Given the description of an element on the screen output the (x, y) to click on. 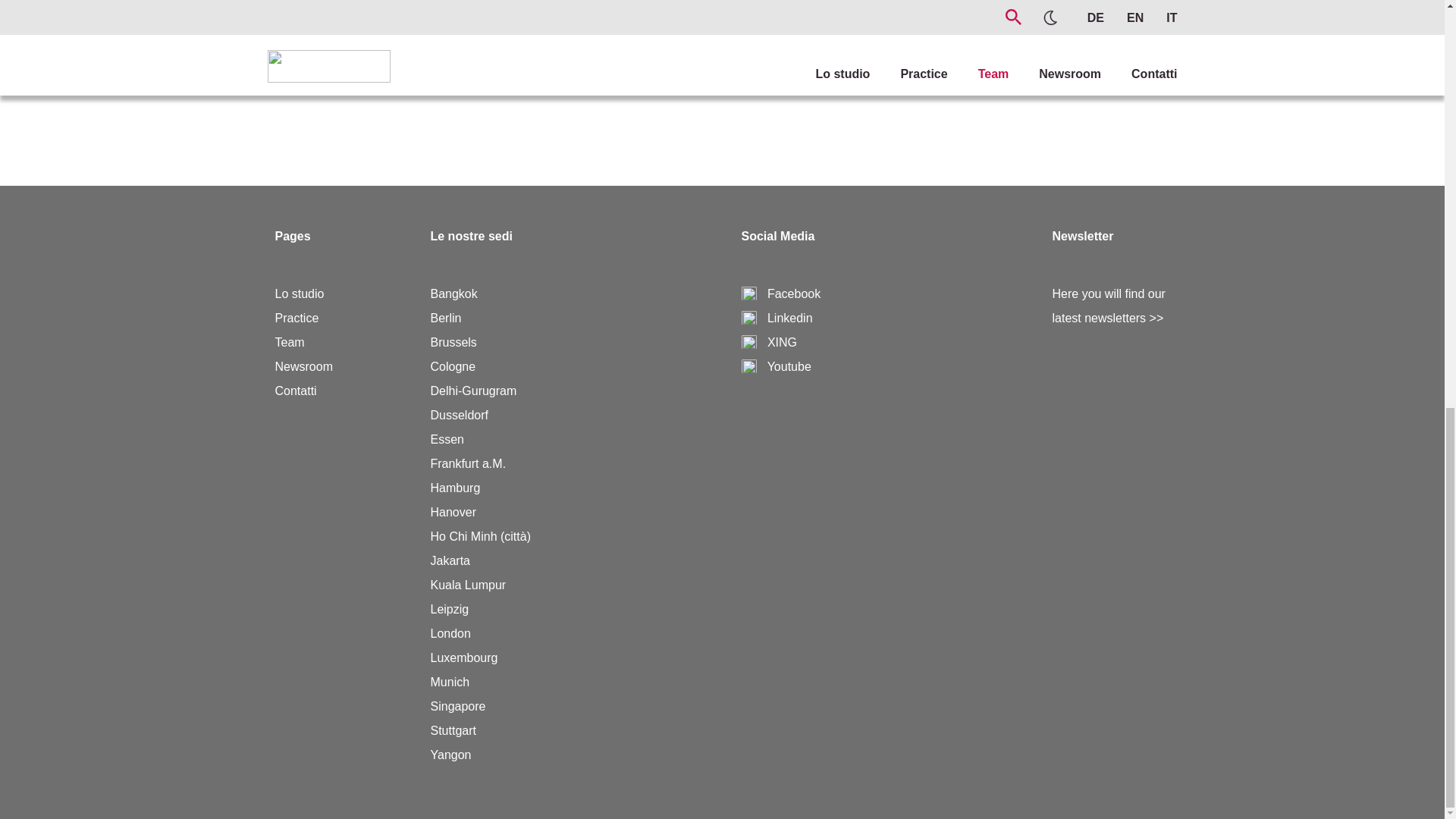
Kuala Lumpur (468, 584)
Berlin (445, 318)
Lo studio (299, 293)
Cologne (453, 366)
Contatti (295, 390)
Team (289, 341)
Contatti (295, 390)
Hanover (453, 512)
Essen (447, 439)
Bangkok (453, 293)
Essen (447, 439)
Jakarta (450, 560)
London (450, 633)
Brussels (453, 341)
Dusseldorf (458, 414)
